Given the description of an element on the screen output the (x, y) to click on. 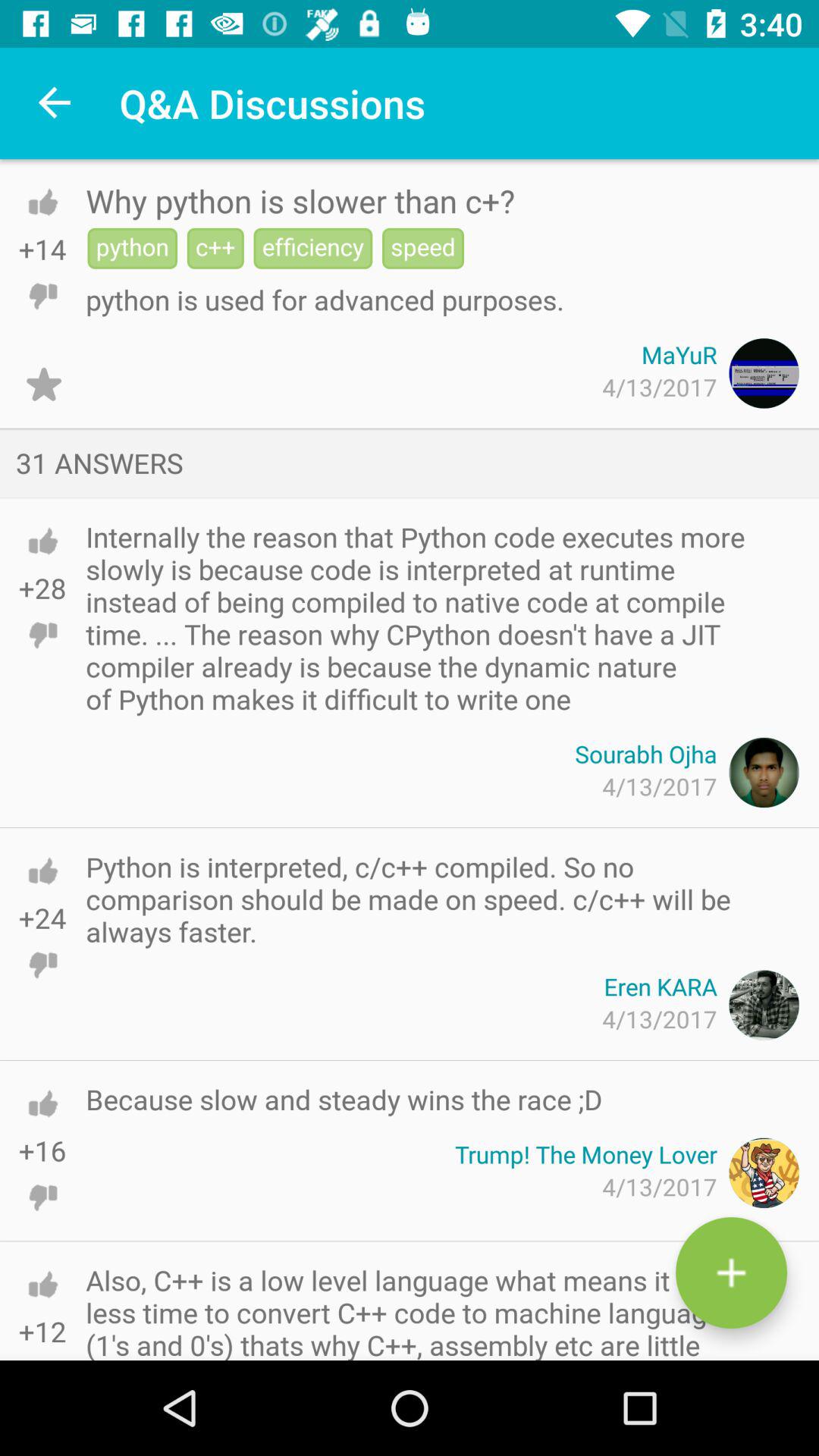
he can activate the simple voice command (43, 384)
